Given the description of an element on the screen output the (x, y) to click on. 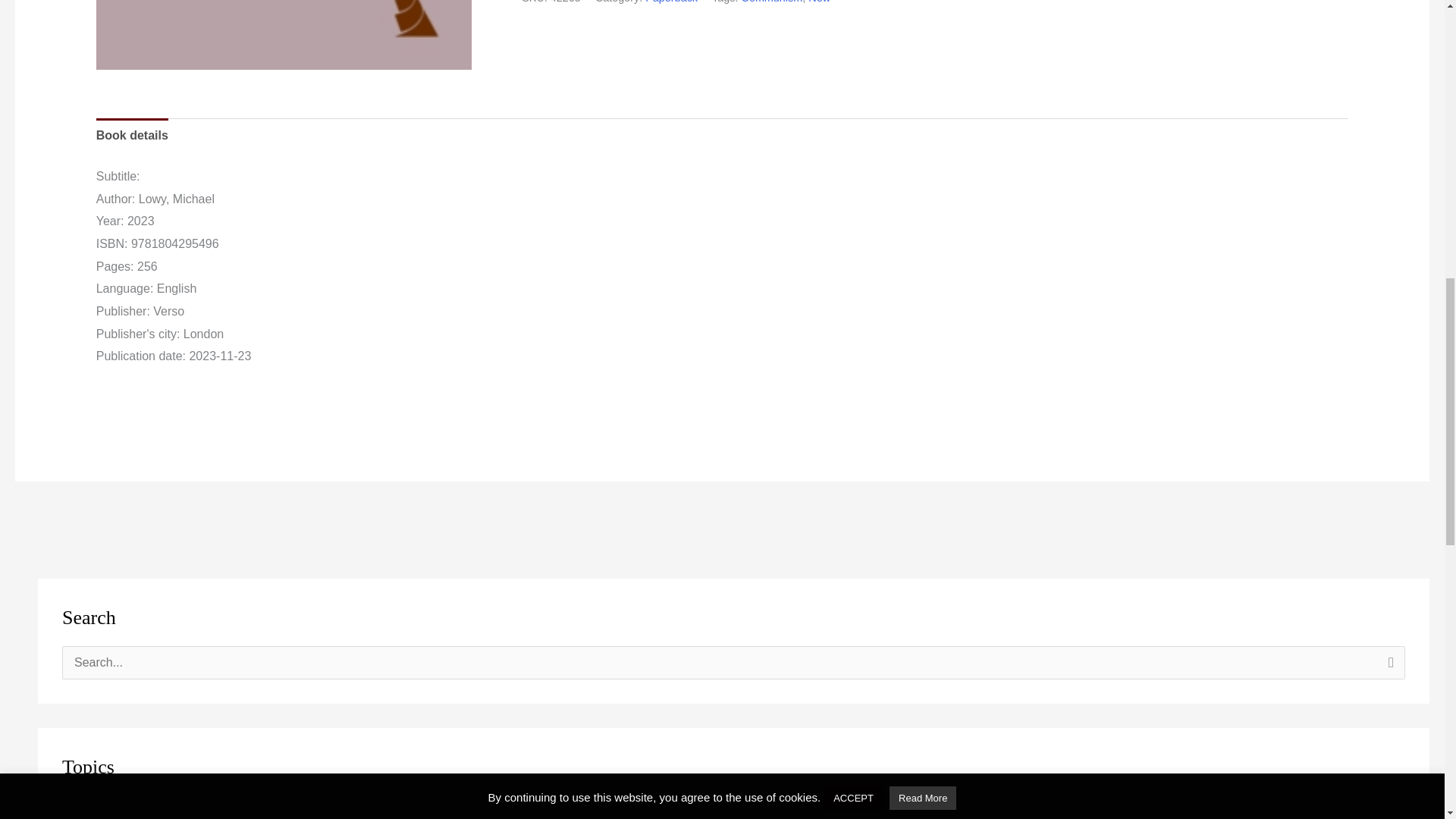
Search (1388, 667)
42265.jpg (283, 34)
Search (1388, 667)
